Given the description of an element on the screen output the (x, y) to click on. 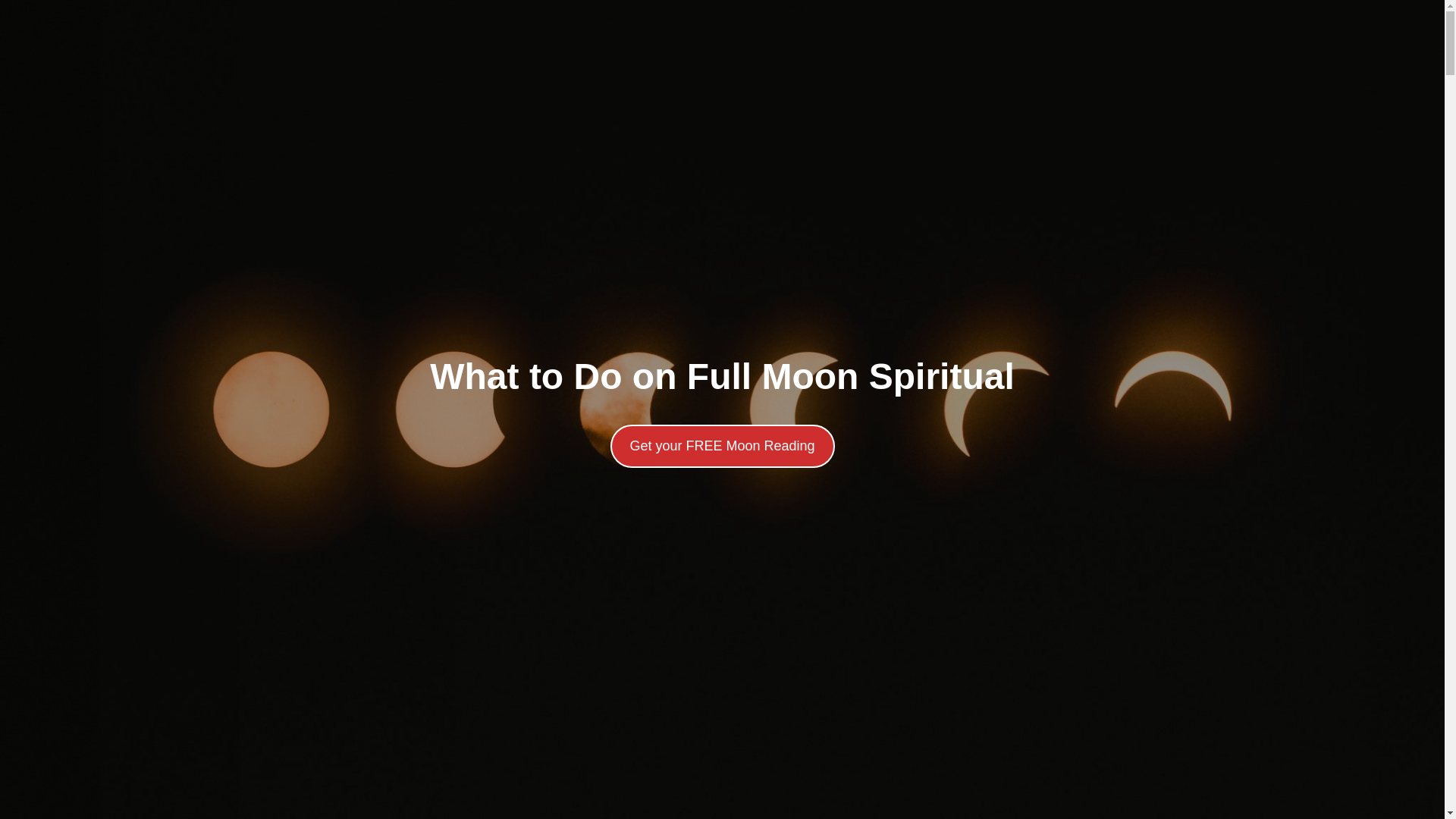
Get your FREE Moon Reading (722, 446)
